Given the description of an element on the screen output the (x, y) to click on. 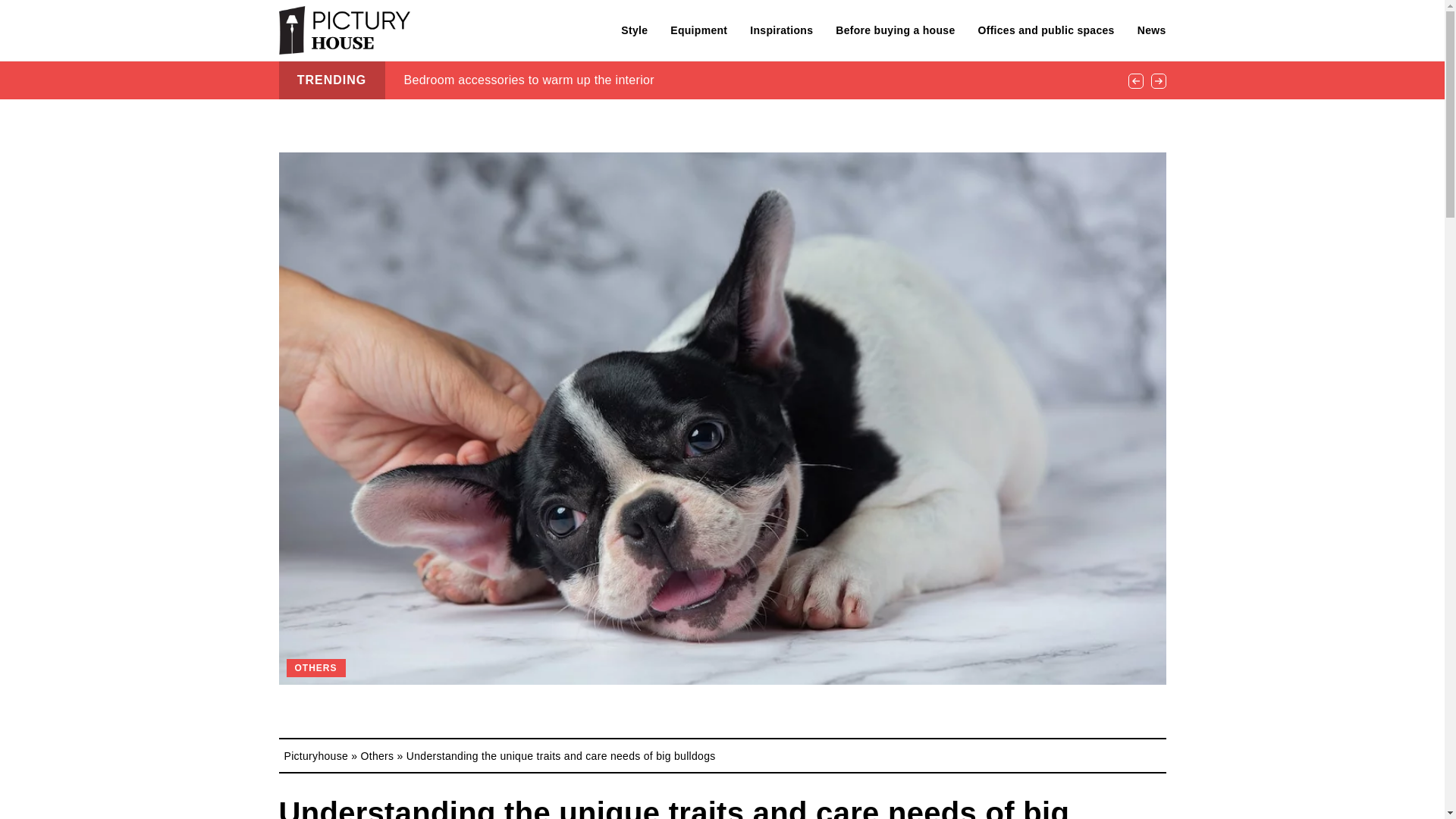
OTHERS (316, 668)
Style (634, 29)
Offices and public spaces (1044, 29)
Bedroom accessories to warm up the interior (528, 79)
News (1151, 29)
Equipment (697, 29)
Before buying a house (895, 29)
Inspirations (780, 29)
